Given the description of an element on the screen output the (x, y) to click on. 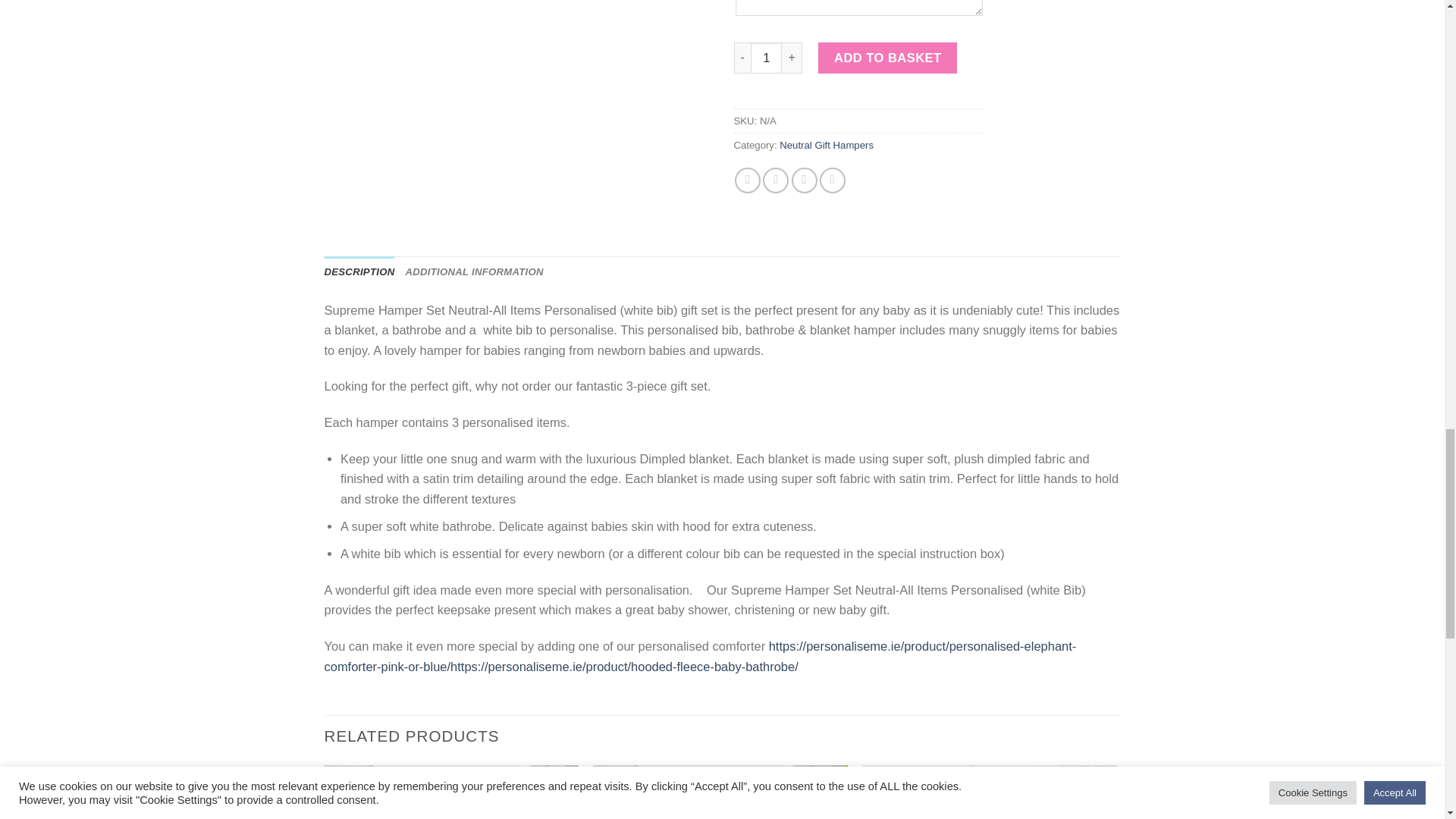
Email to a Friend (804, 180)
Pin on Pinterest (832, 180)
1 (766, 57)
Share on Twitter (775, 180)
Share on Facebook (747, 180)
